Given the description of an element on the screen output the (x, y) to click on. 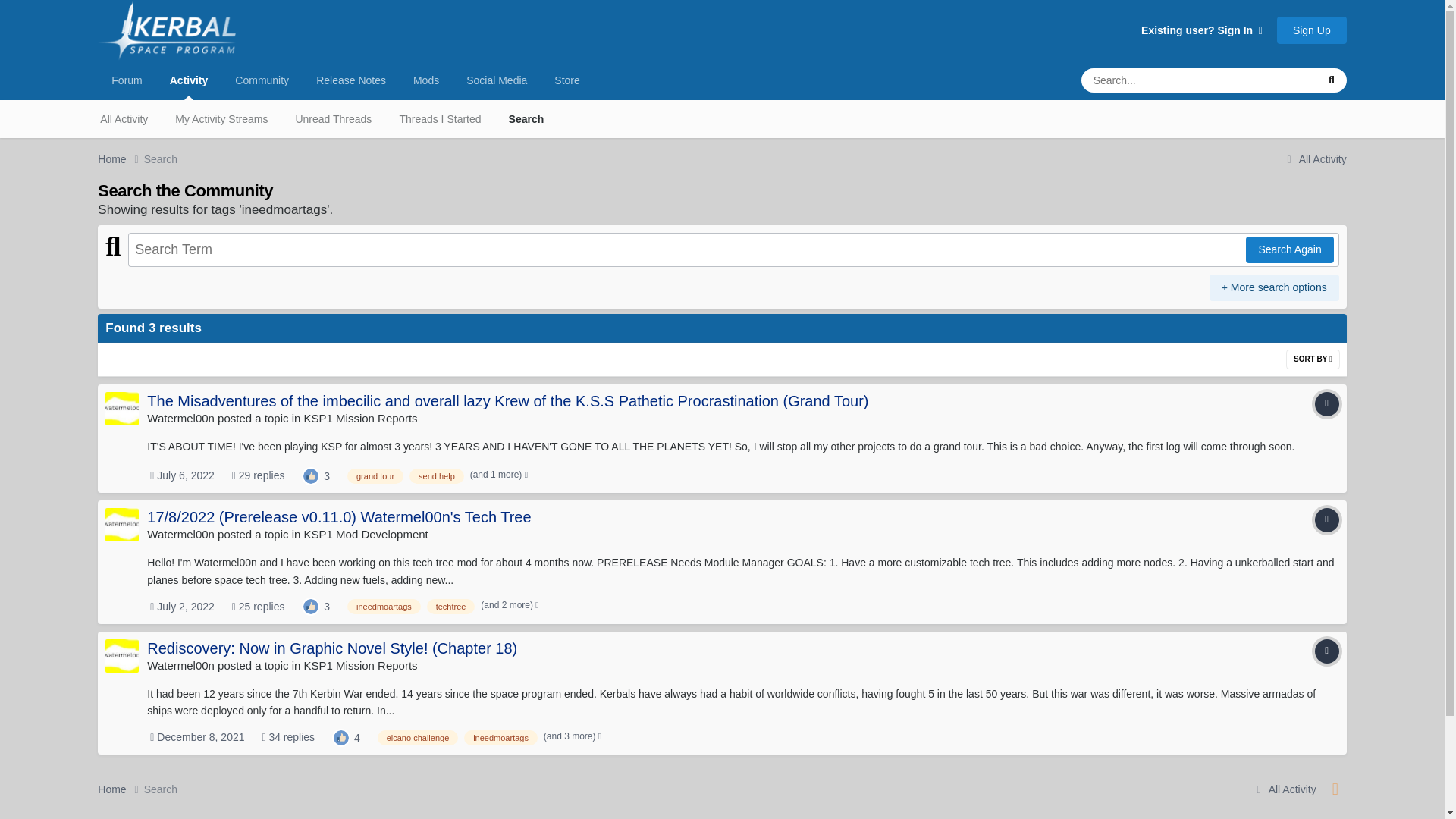
Forum (126, 79)
Topic (1326, 404)
Existing user? Sign In   (1201, 30)
All Activity (123, 118)
Topic (1326, 519)
Mods (425, 79)
Home (119, 159)
Social Media (496, 79)
Store (566, 79)
Release Notes (350, 79)
Go to Watermel00n's profile (180, 533)
Go to Watermel00n's profile (121, 408)
Go to Watermel00n's profile (121, 524)
Community (261, 79)
Find other content tagged with 'grand tour' (375, 476)
